Given the description of an element on the screen output the (x, y) to click on. 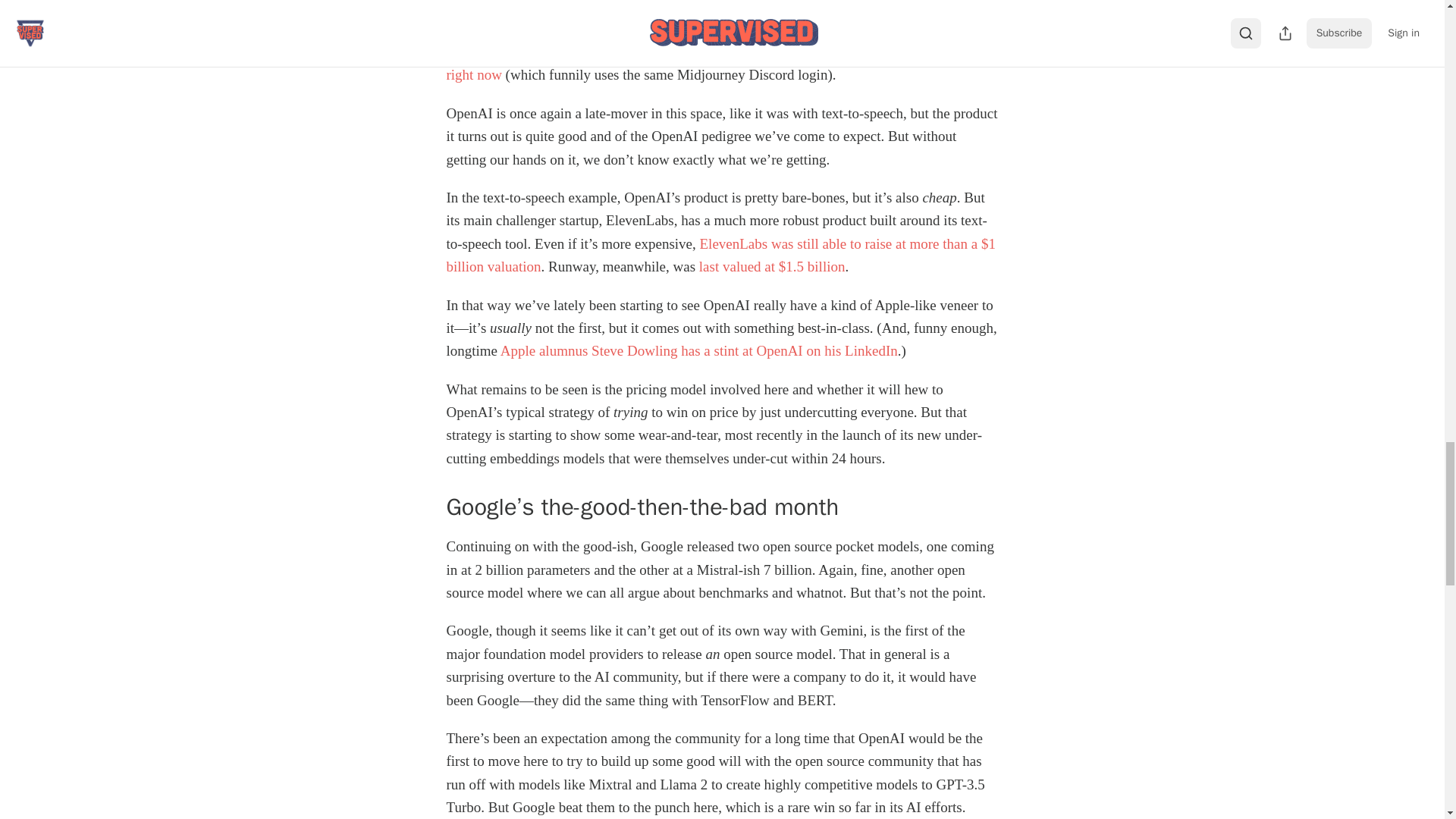
use Pika right now (719, 63)
